Given the description of an element on the screen output the (x, y) to click on. 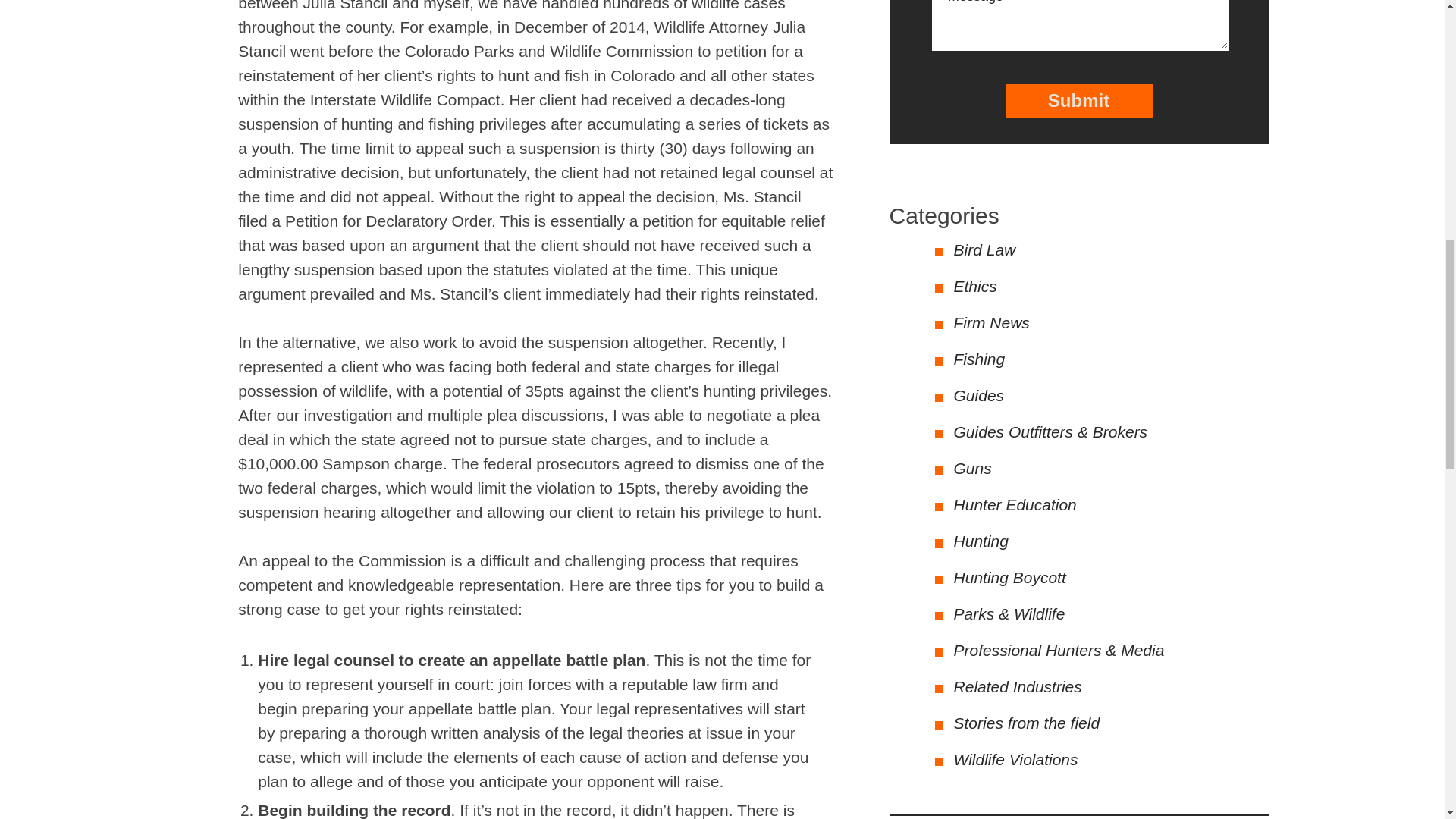
Stories from the field (1026, 723)
Submit (1079, 100)
Guns (972, 467)
Hunter Education (1015, 504)
Bird Law (984, 249)
Firm News (991, 322)
Wildlife Violations (1015, 759)
Related Industries (1017, 686)
Hunting Boycott (1009, 577)
Fishing (979, 358)
Guides (978, 395)
Hunting (981, 540)
Submit (1079, 100)
Ethics (975, 285)
